Given the description of an element on the screen output the (x, y) to click on. 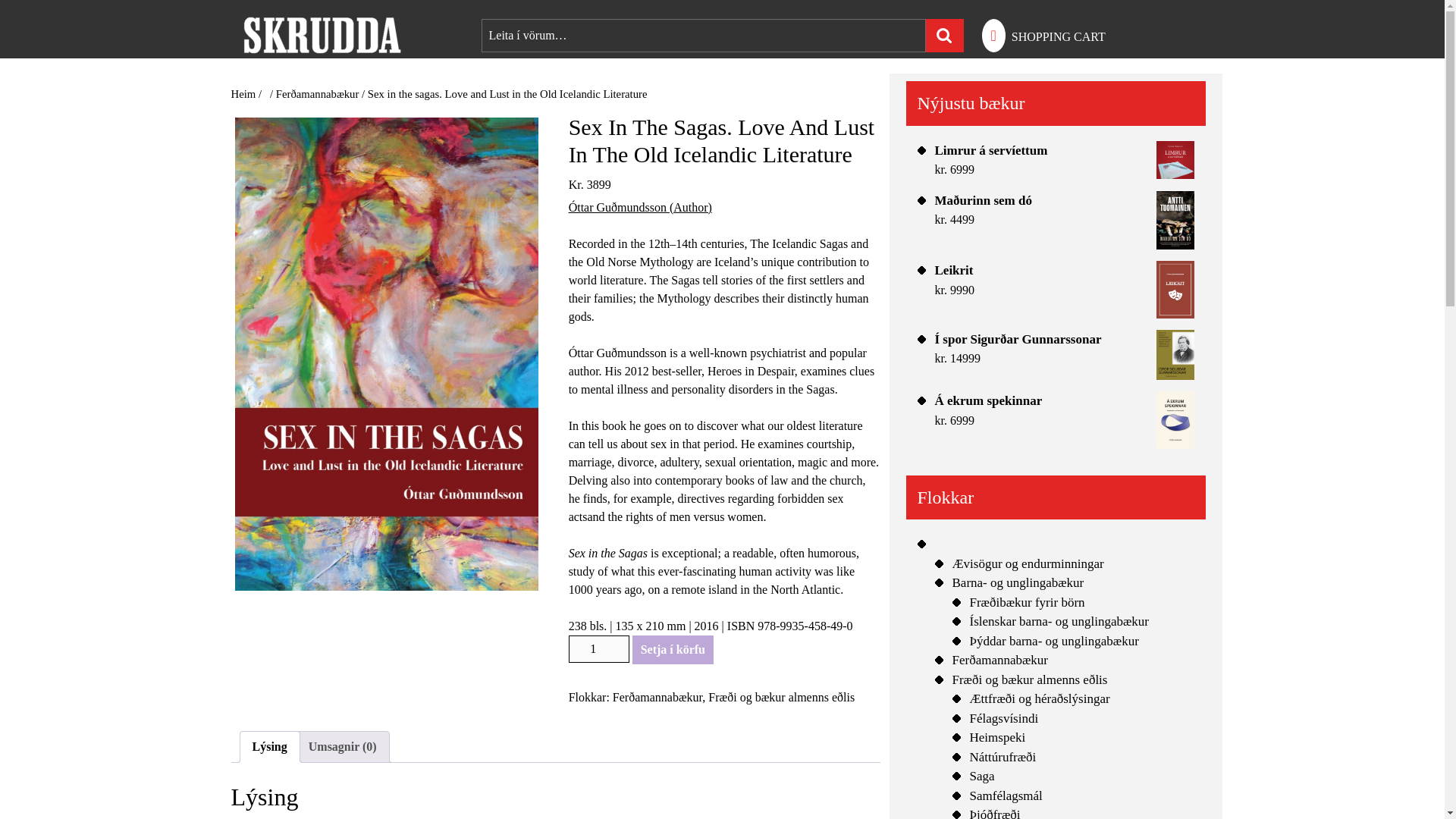
Leita (943, 34)
Leikrit (1063, 270)
Heim (243, 93)
1 (598, 648)
SHOPPING CART (1058, 36)
